Given the description of an element on the screen output the (x, y) to click on. 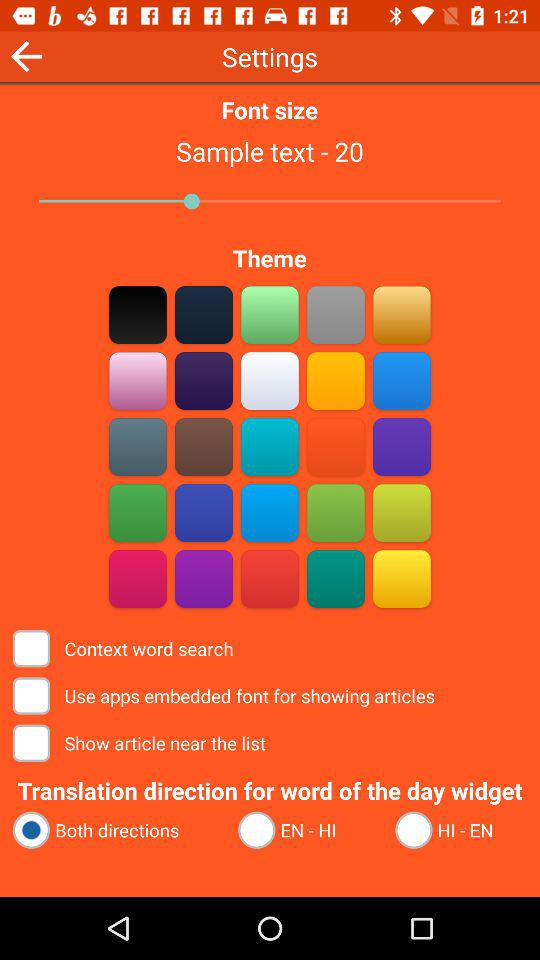
select the orange theme (335, 446)
